Given the description of an element on the screen output the (x, y) to click on. 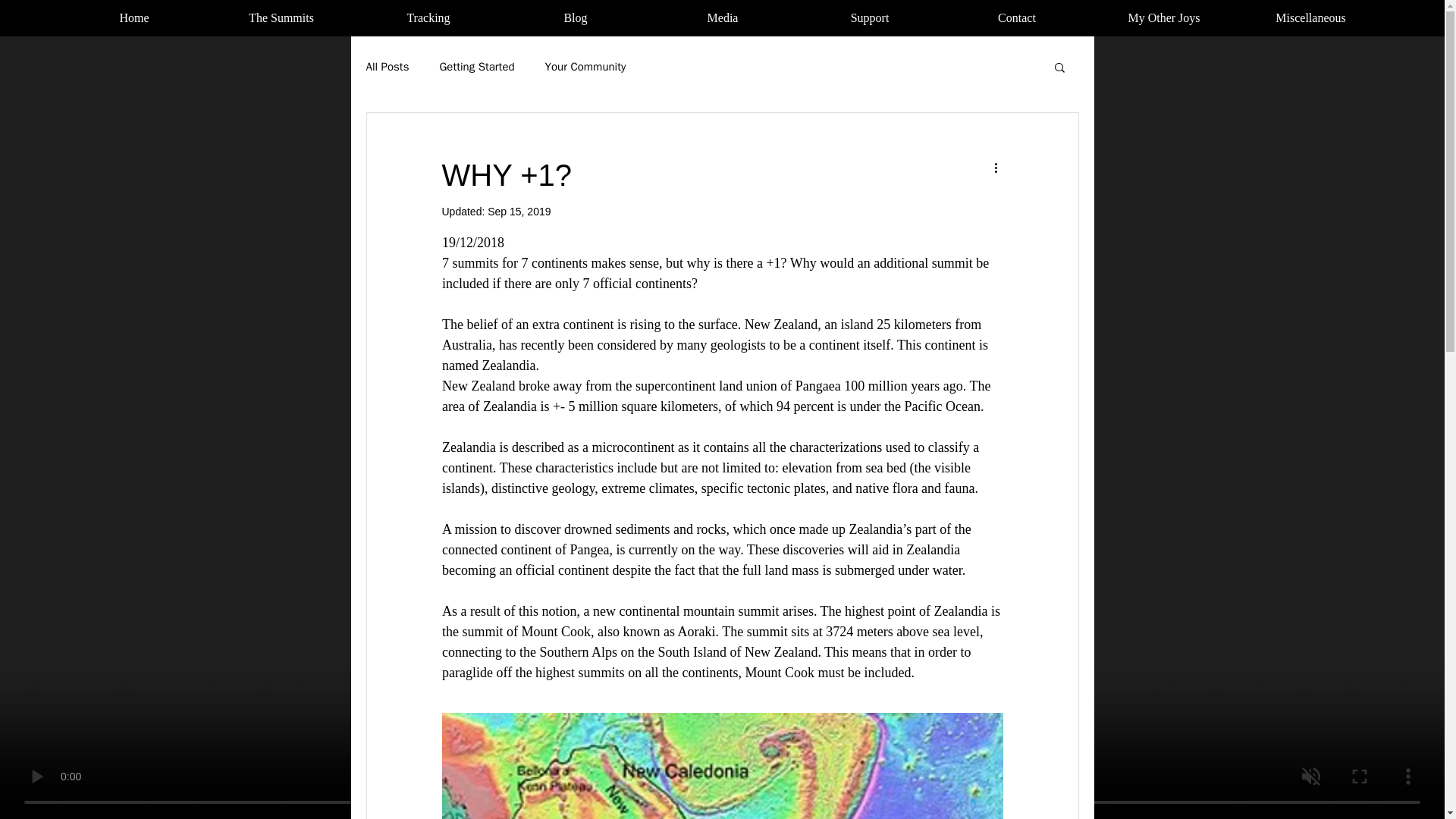
Contact (1016, 17)
All Posts (387, 65)
Blog (575, 17)
My Other Joys (1163, 17)
Getting Started (476, 65)
The Summits (280, 17)
Miscellaneous (1310, 17)
Support (869, 17)
Media (722, 17)
Tracking (427, 17)
